Given the description of an element on the screen output the (x, y) to click on. 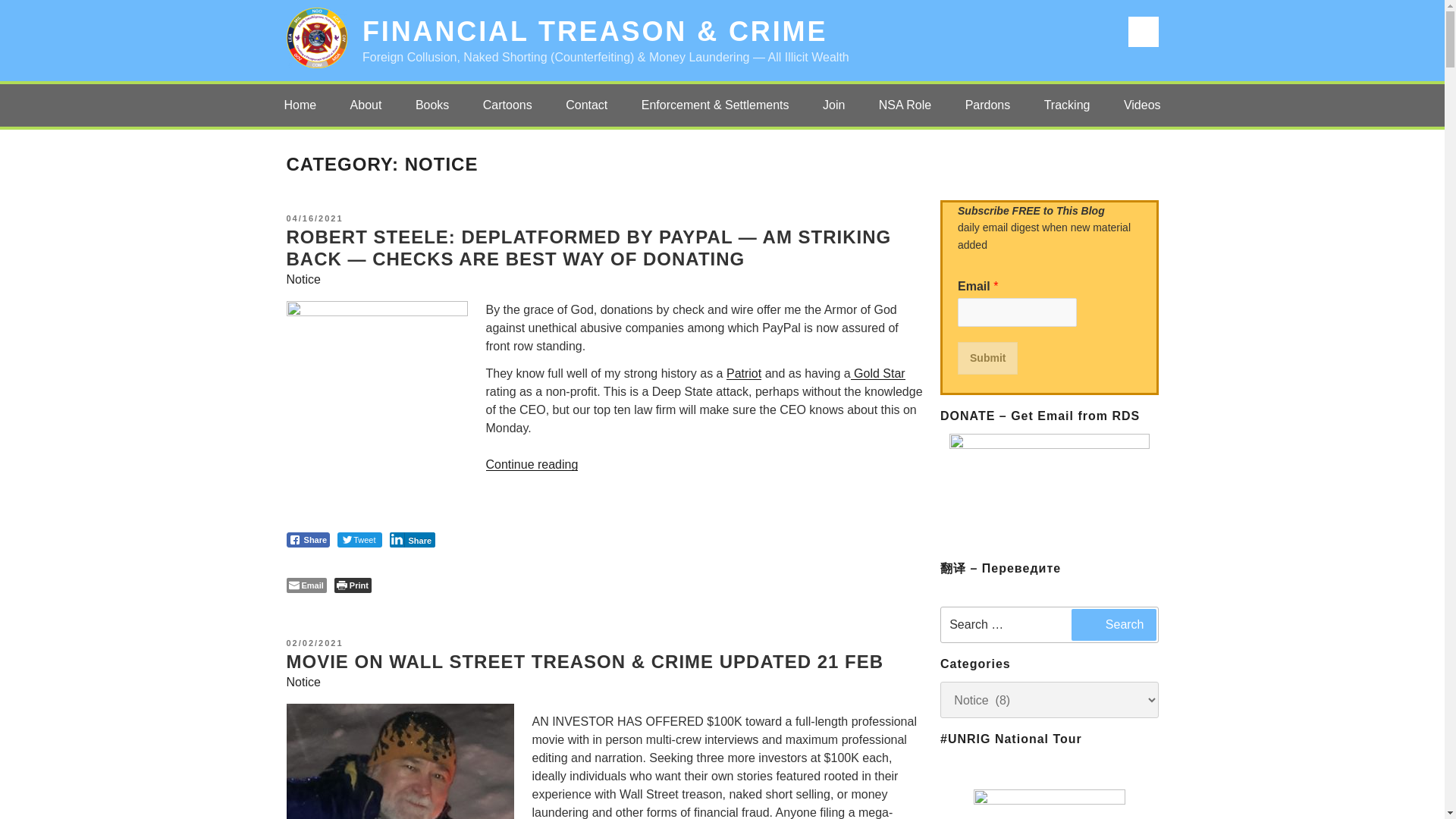
Tracking (1067, 105)
Print (352, 585)
Share (308, 539)
DONATE - Get Email from RDS (1049, 490)
Patriot (743, 373)
Books (432, 105)
Notice (303, 681)
Pardons (988, 105)
Gold Star (877, 373)
